Given the description of an element on the screen output the (x, y) to click on. 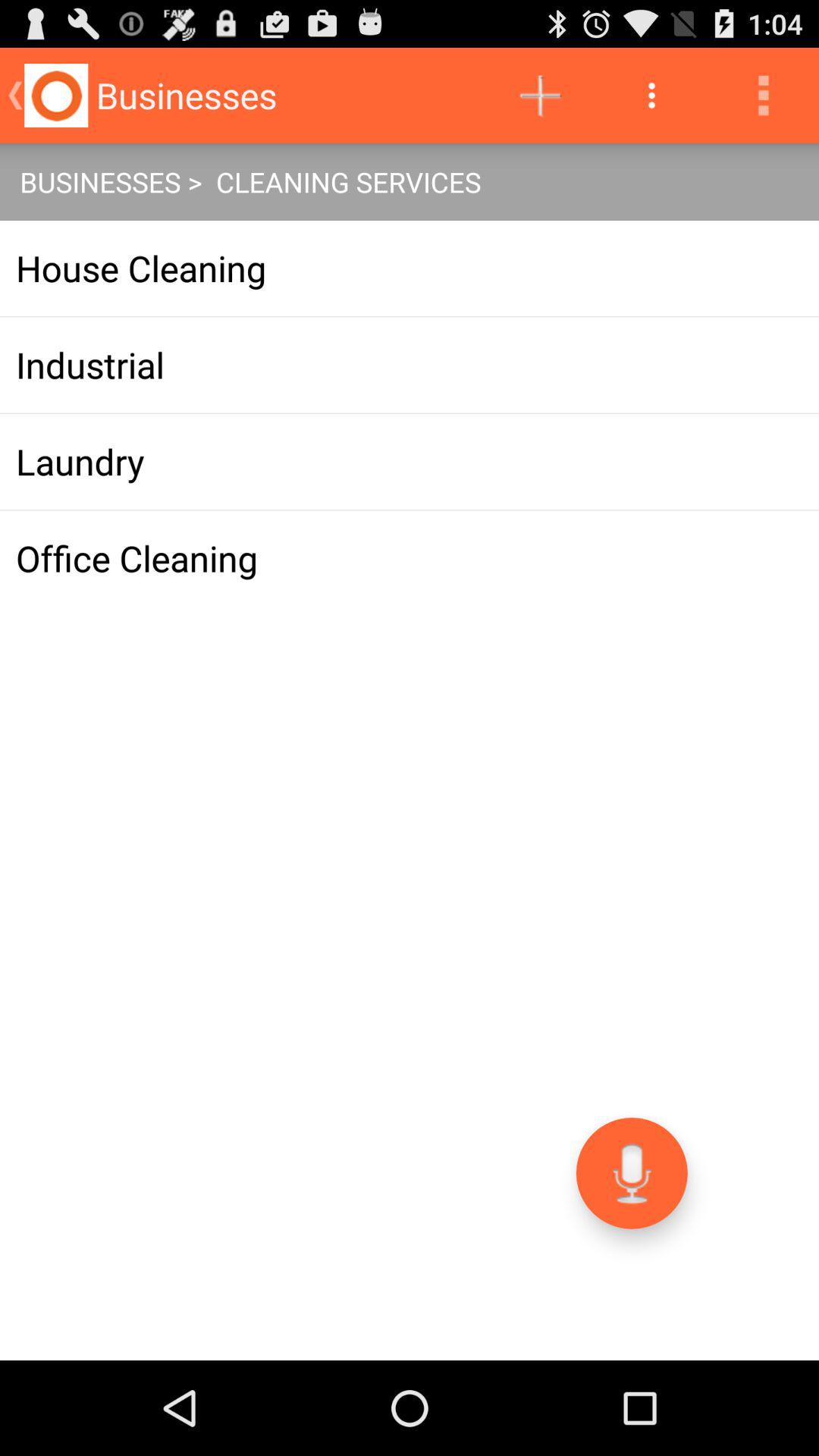
tap the icon below the house cleaning item (409, 364)
